Given the description of an element on the screen output the (x, y) to click on. 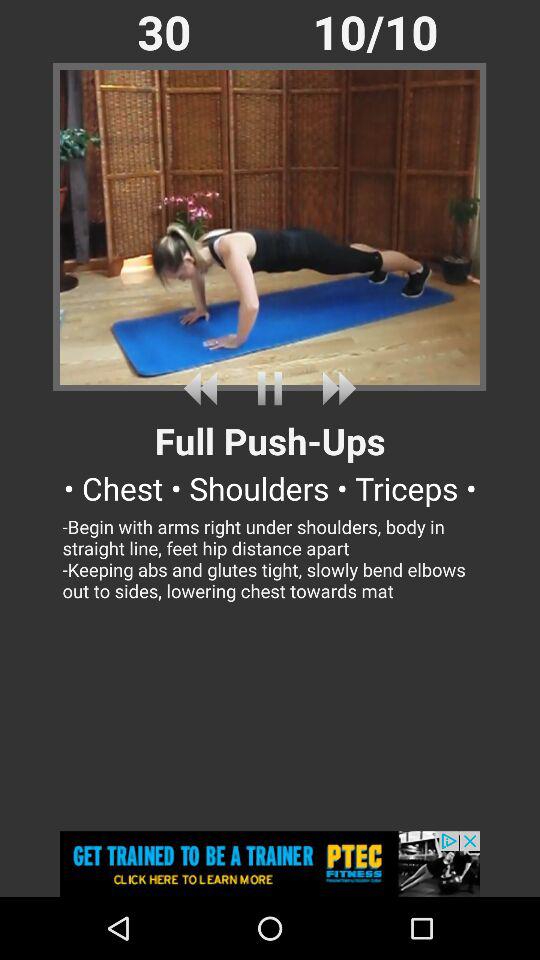
go to advertisements website (270, 864)
